Given the description of an element on the screen output the (x, y) to click on. 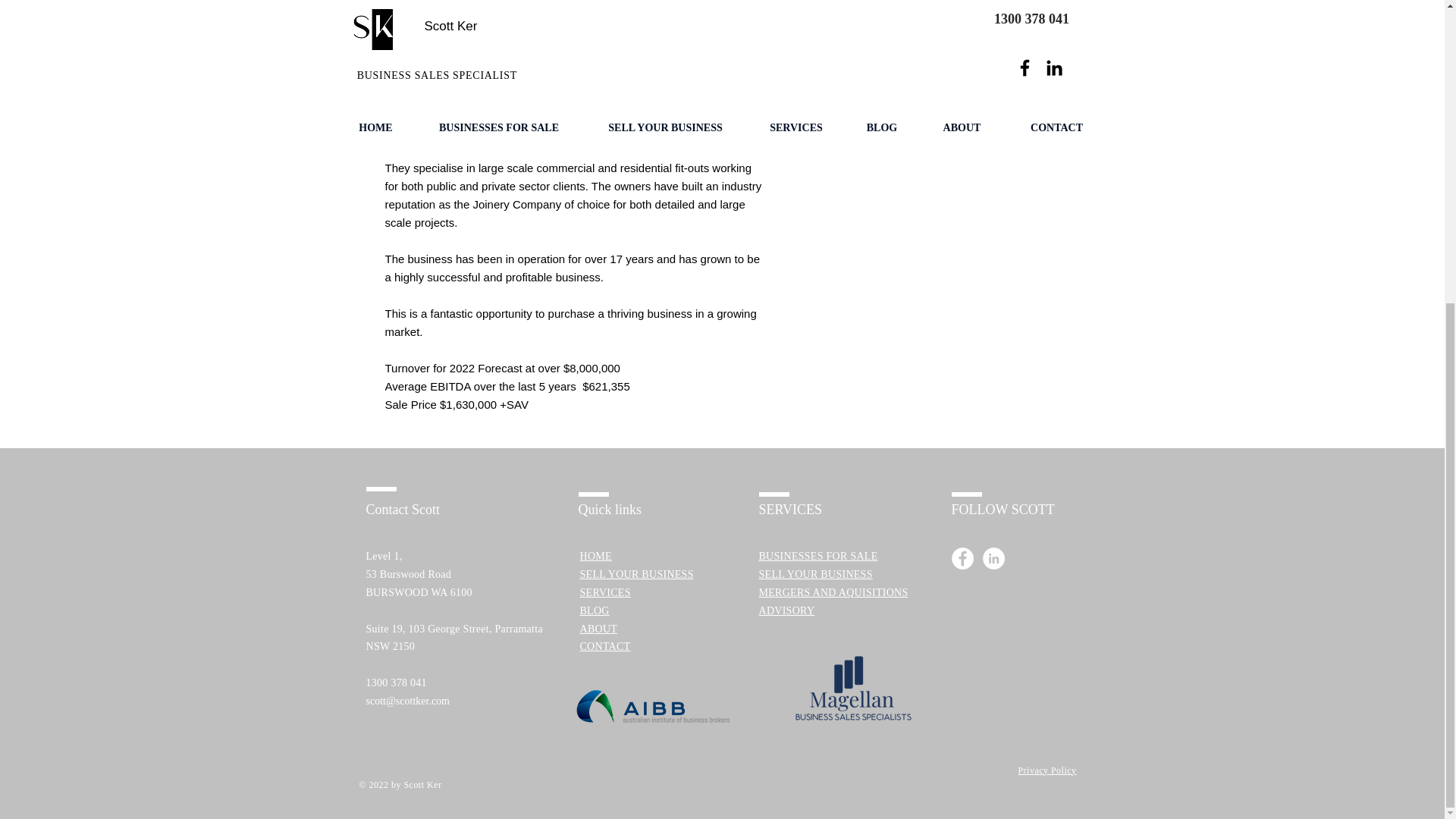
1300 378 041 (395, 682)
BLOG (593, 610)
ADVISORY (785, 610)
Privacy Policy (1046, 769)
SELL YOUR BUSINESS (636, 573)
MERGERS AND AQUISITIONS (832, 592)
BUSINESSES FOR SALE (817, 555)
ABOUT (598, 628)
SELL YOUR BUSINESS (815, 573)
CONTACT (604, 645)
